Given the description of an element on the screen output the (x, y) to click on. 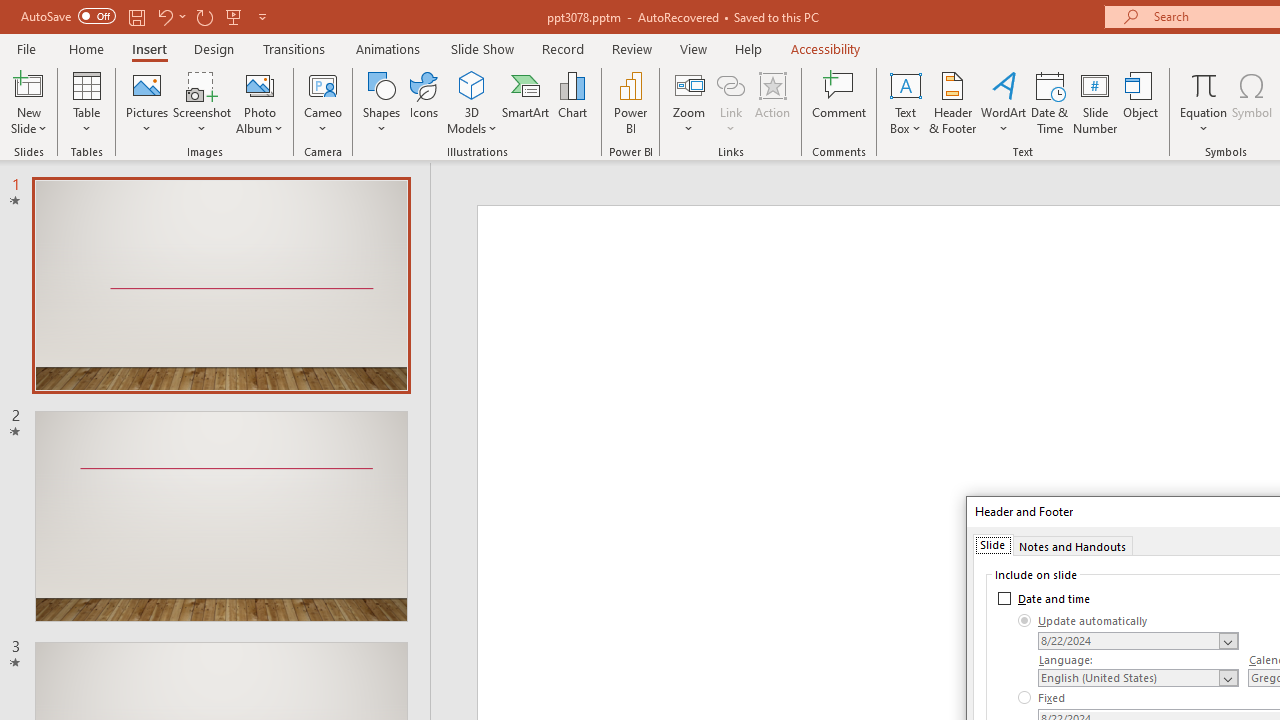
Table (86, 102)
Photo Album... (259, 102)
Update automatically (1083, 620)
Fixed (1042, 697)
